Given the description of an element on the screen output the (x, y) to click on. 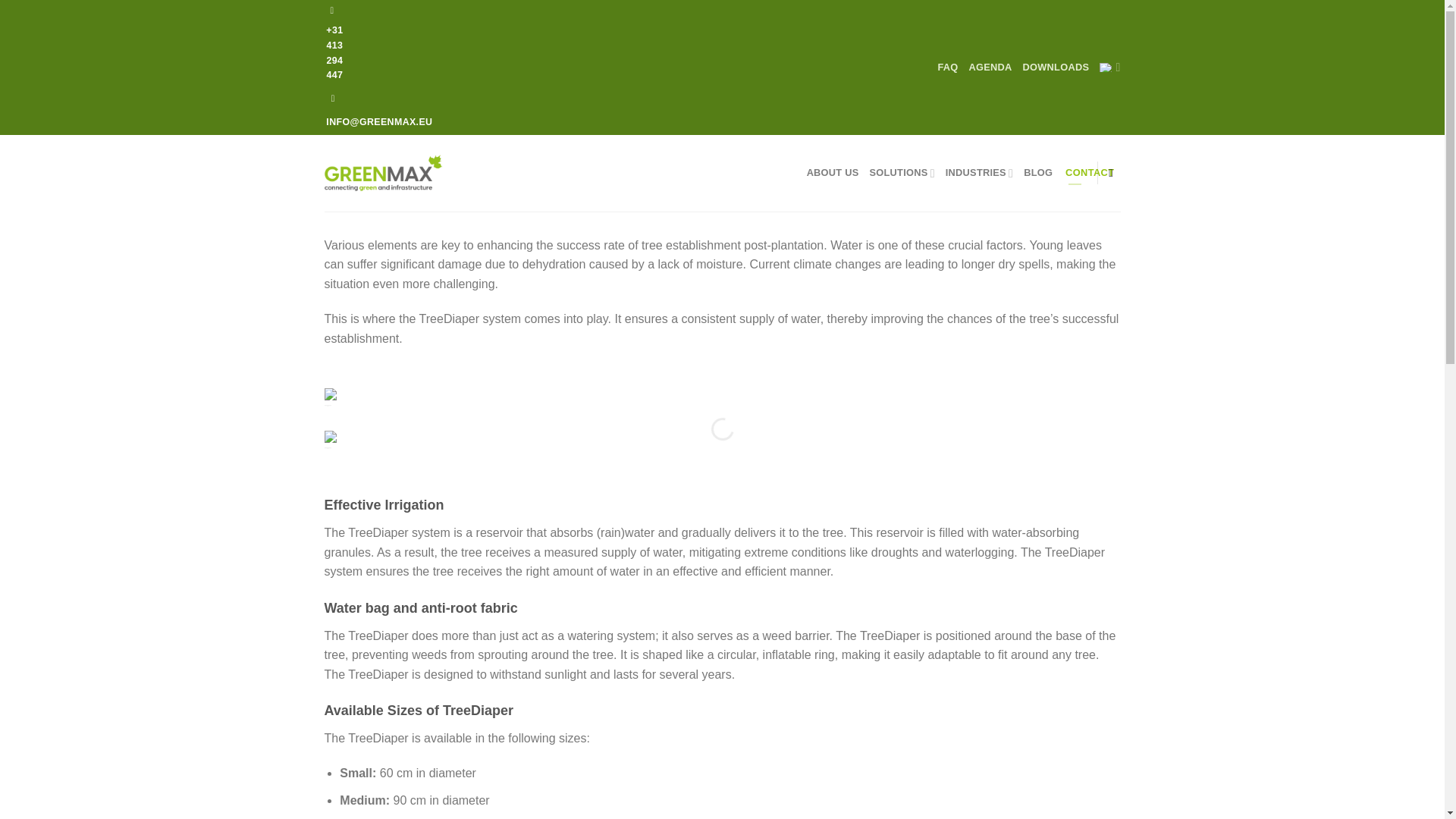
BLOG (1037, 172)
SOLUTIONS (901, 173)
AGENDA (990, 66)
ABOUT US (832, 172)
INDUSTRIES (978, 173)
FAQ (947, 66)
DOWNLOADS (1056, 66)
CONTACT (1074, 172)
